Given the description of an element on the screen output the (x, y) to click on. 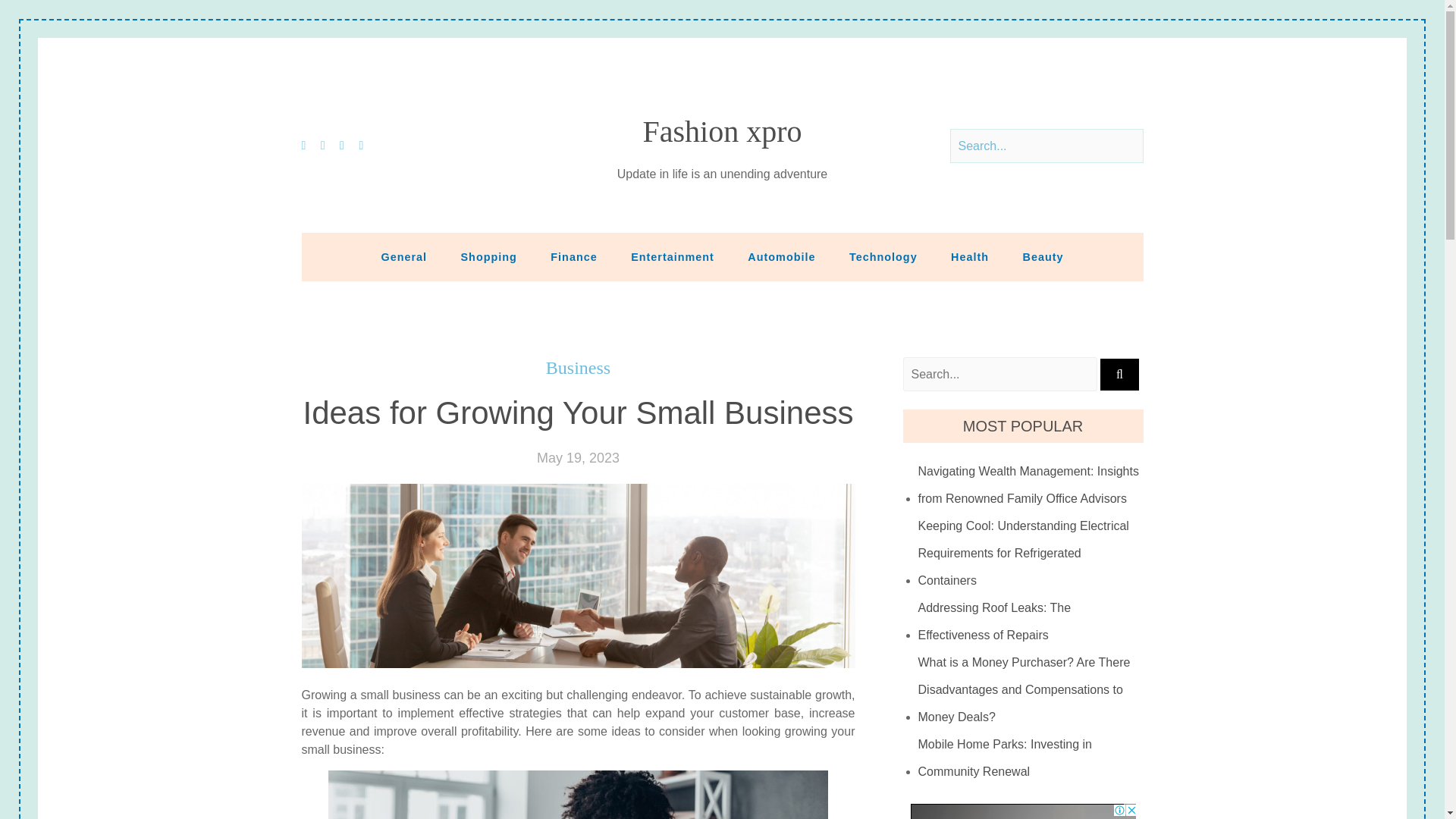
Beauty (1042, 256)
Automobile (780, 256)
Technology (883, 256)
Business (578, 368)
Mobile Home Parks: Investing in Community Renewal (1030, 758)
Fashion xpro (722, 131)
Addressing Roof Leaks: The Effectiveness of Repairs (1030, 621)
Health (970, 256)
Finance (573, 256)
